Given the description of an element on the screen output the (x, y) to click on. 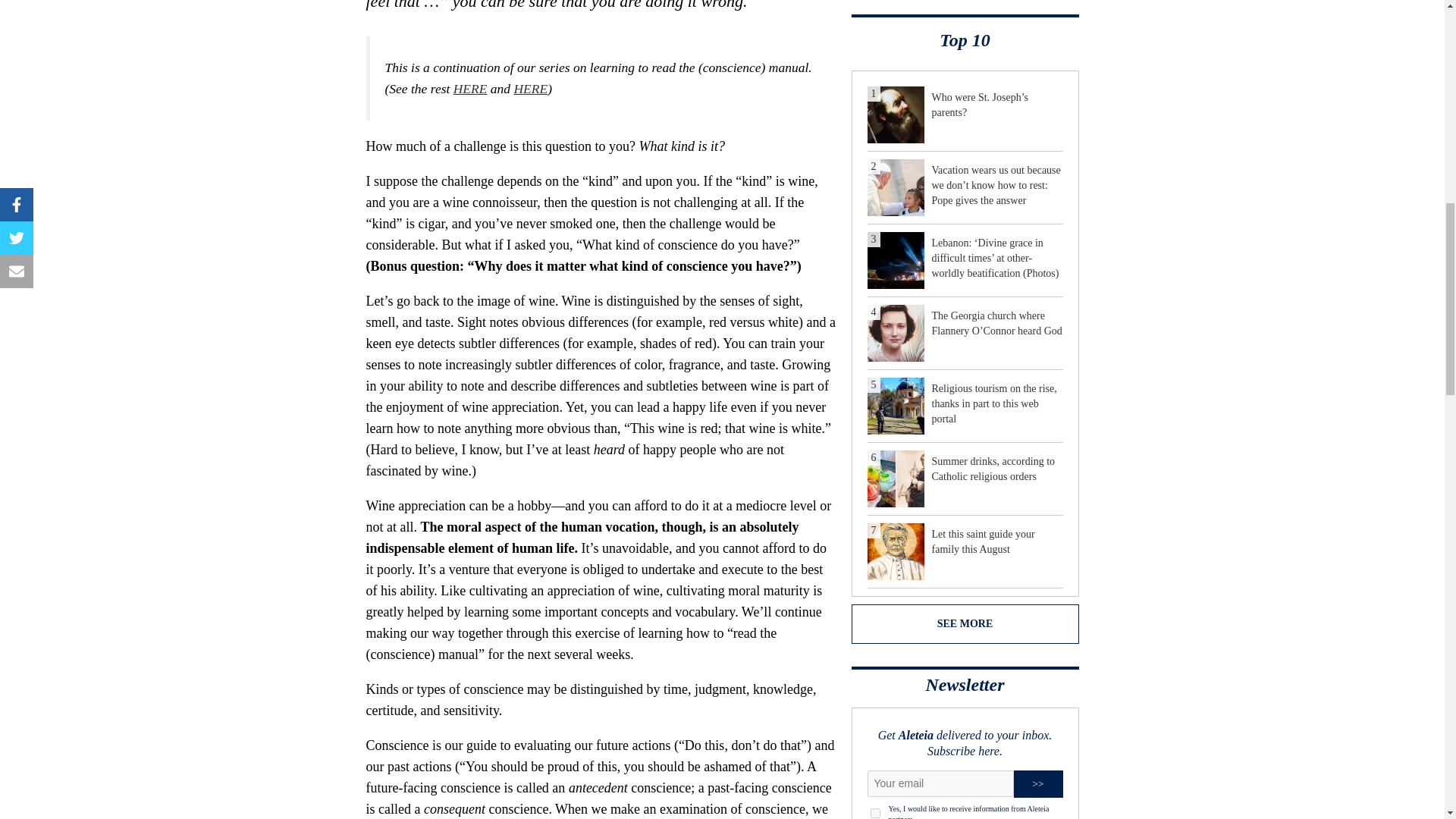
HERE (530, 88)
HERE (469, 88)
1 (875, 813)
